Given the description of an element on the screen output the (x, y) to click on. 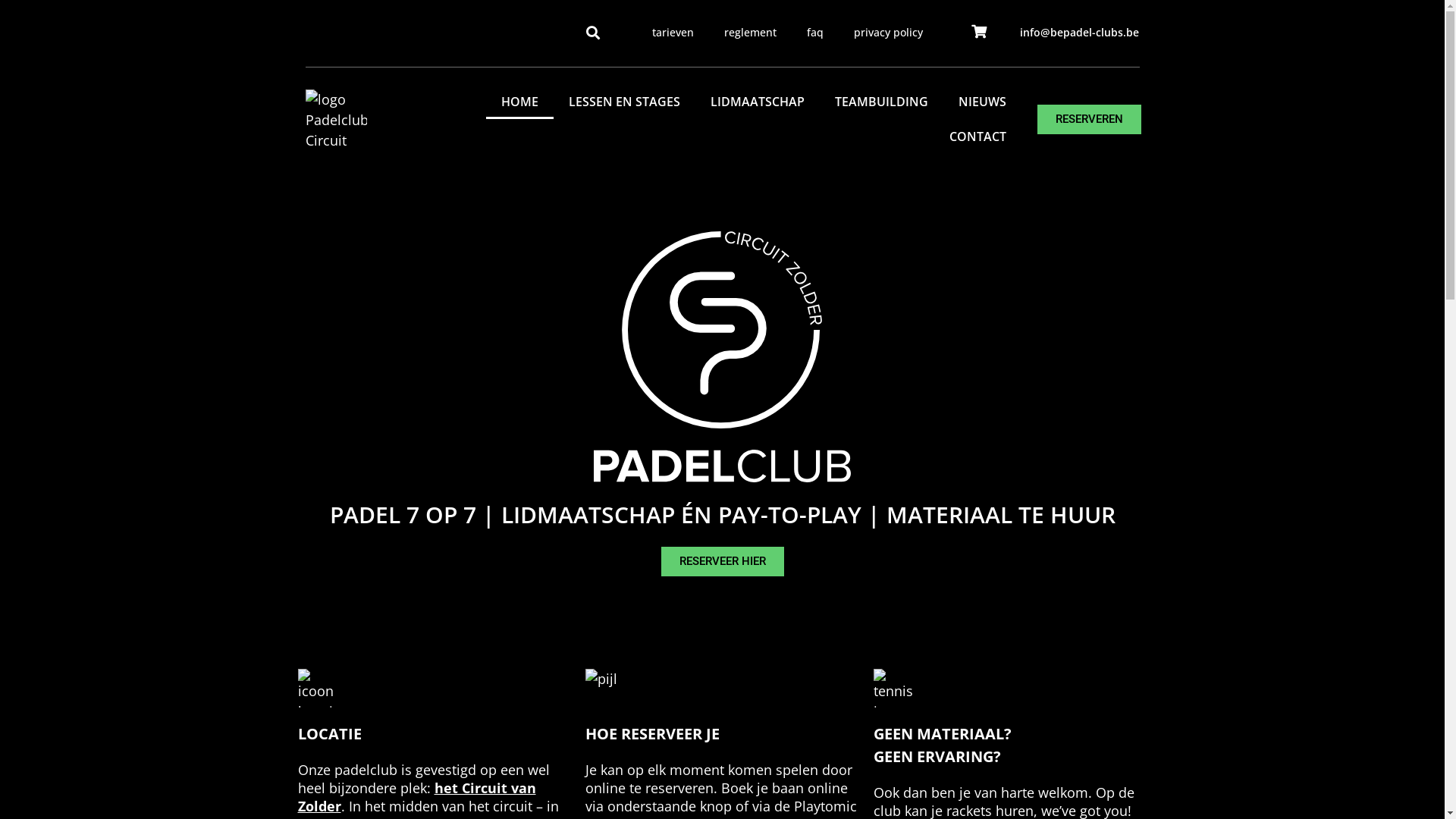
LIDMAATSCHAP Element type: text (757, 101)
info@bepadel-clubs.be Element type: text (1079, 32)
NIEUWS Element type: text (982, 101)
RESERVEREN Element type: text (1089, 119)
RESERVEER HIER Element type: text (722, 561)
HOME Element type: text (519, 101)
faq Element type: text (814, 32)
CONTACT Element type: text (977, 136)
tarieven Element type: text (673, 32)
reglement Element type: text (750, 32)
LESSEN EN STAGES Element type: text (624, 101)
privacy policy Element type: text (888, 32)
TEAMBUILDING Element type: text (881, 101)
het Circuit van Zolder Element type: text (416, 796)
